Given the description of an element on the screen output the (x, y) to click on. 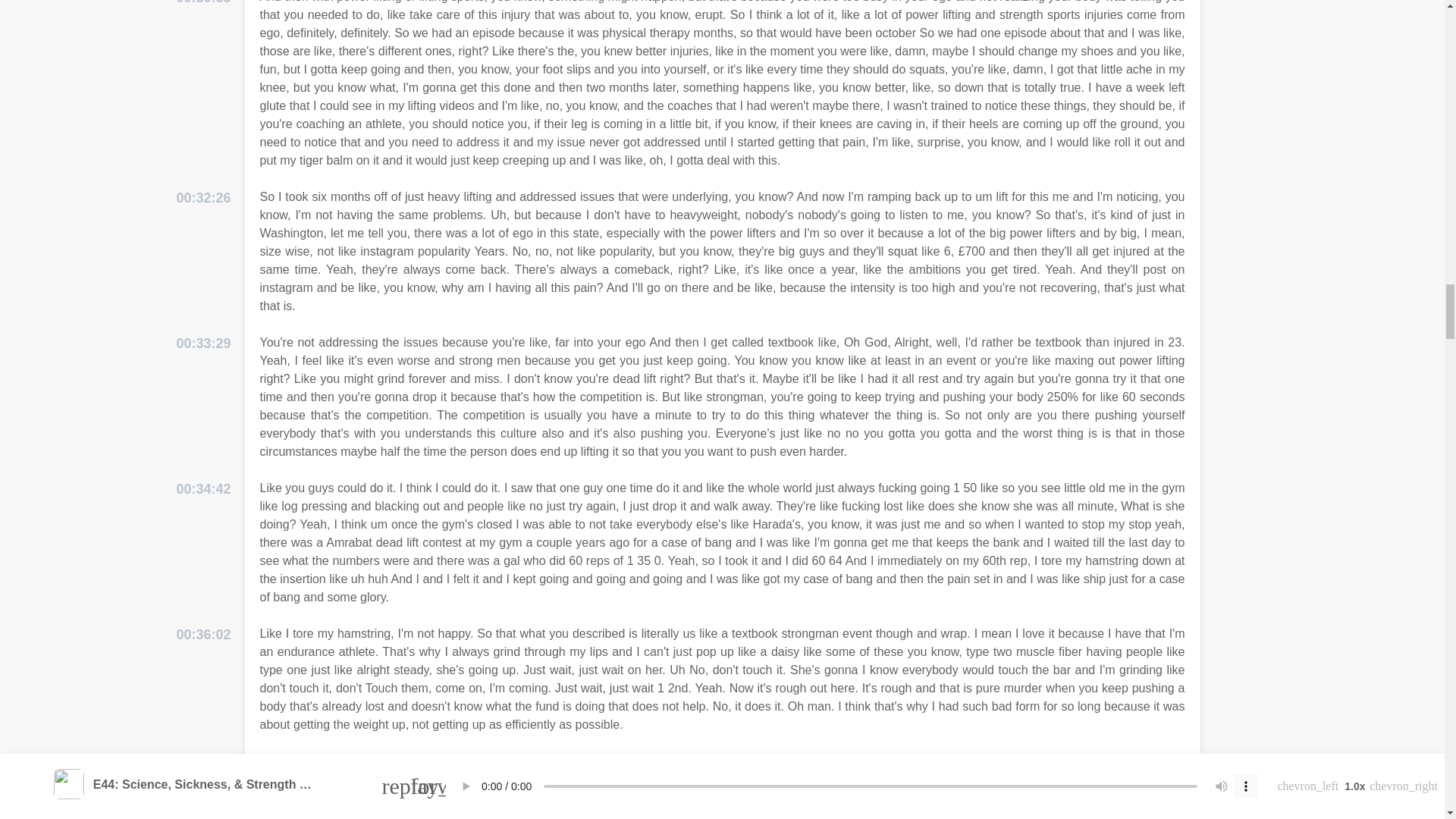
00:36:02 (203, 634)
00:37:05 (203, 762)
00:32:26 (203, 198)
00:33:29 (203, 343)
00:30:53 (203, 4)
00:34:42 (203, 489)
